Given the description of an element on the screen output the (x, y) to click on. 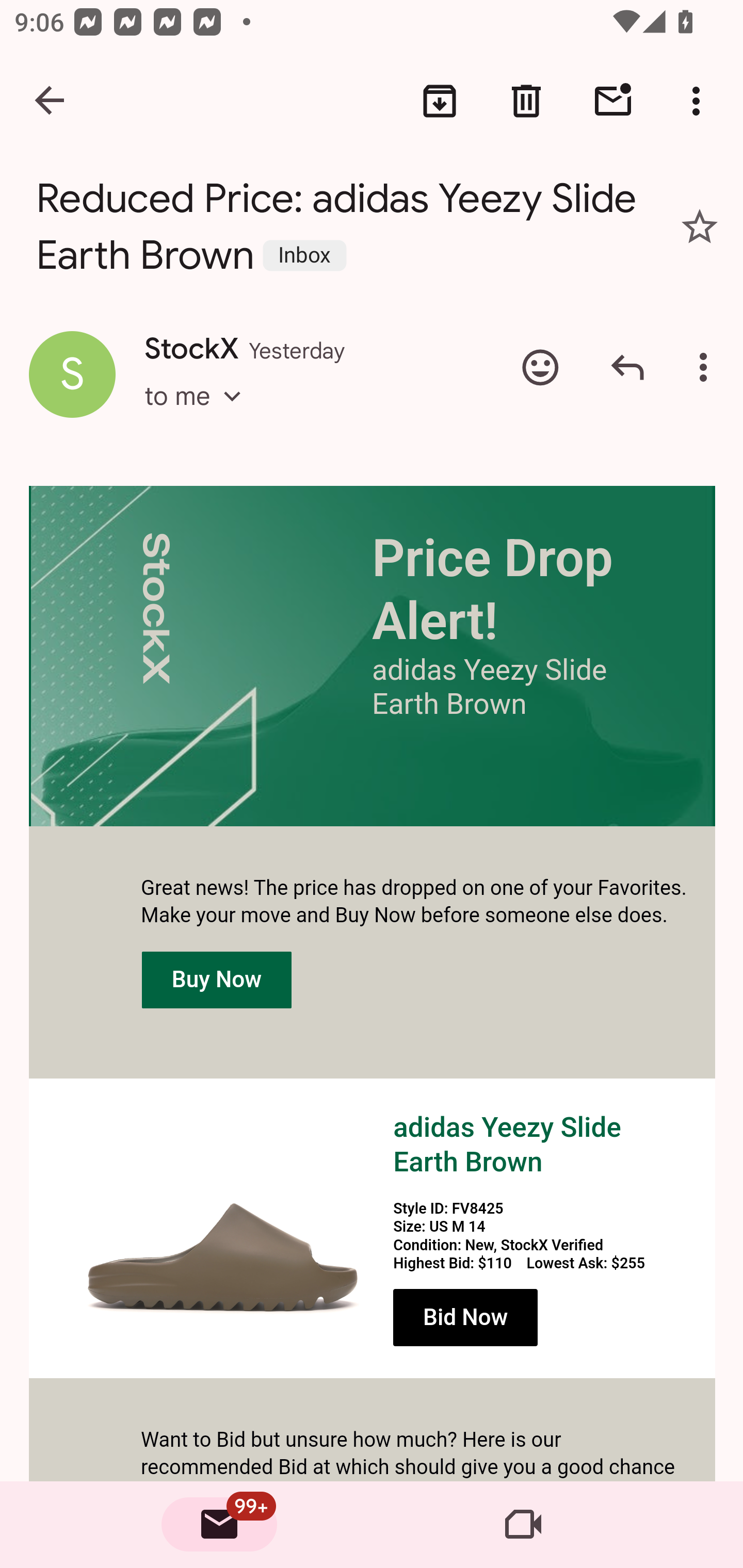
Navigate up (50, 101)
Archive (439, 101)
Delete (525, 101)
Mark unread (612, 101)
More options (699, 101)
Add star (699, 226)
Add emoji reaction (540, 367)
Reply (626, 367)
More options (706, 367)
Show contact information for StockX (71, 373)
to me (199, 414)
Buy Now (216, 979)
adidas Yeezy Slide Earth Brown (506, 1144)
adidas Yeezy Slide Earth Brown (222, 1227)
Bid Now (465, 1317)
Meet (523, 1524)
